Given the description of an element on the screen output the (x, y) to click on. 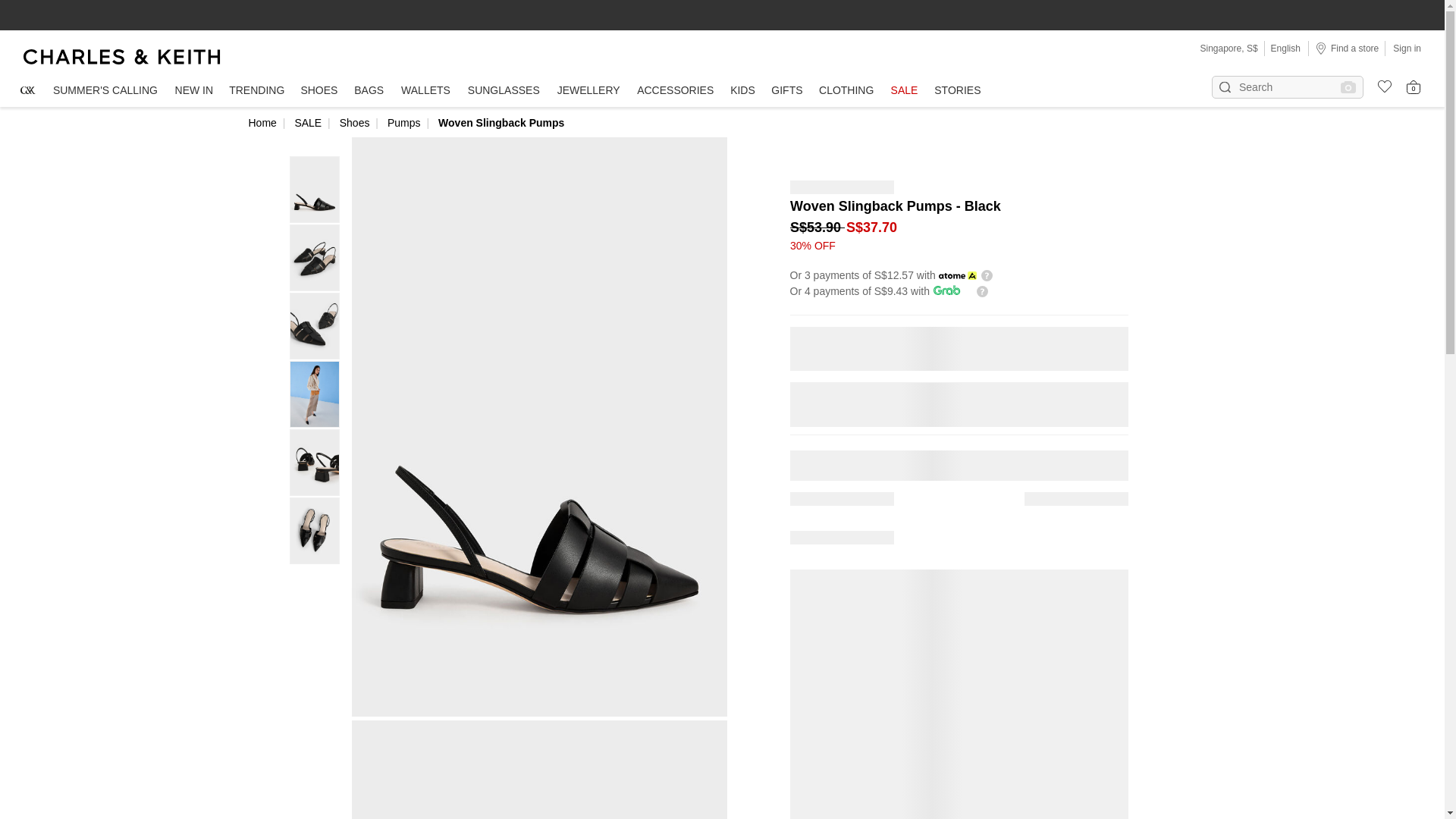
WALLETS (426, 91)
ACCESSORIES (675, 91)
SUNGLASSES (504, 91)
CLOTHING (846, 91)
SHOES (319, 91)
Find a store (1346, 48)
GIFTS (786, 91)
KIDS (742, 91)
SUMMER'S CALLING (105, 91)
Sign in (1407, 48)
